Given the description of an element on the screen output the (x, y) to click on. 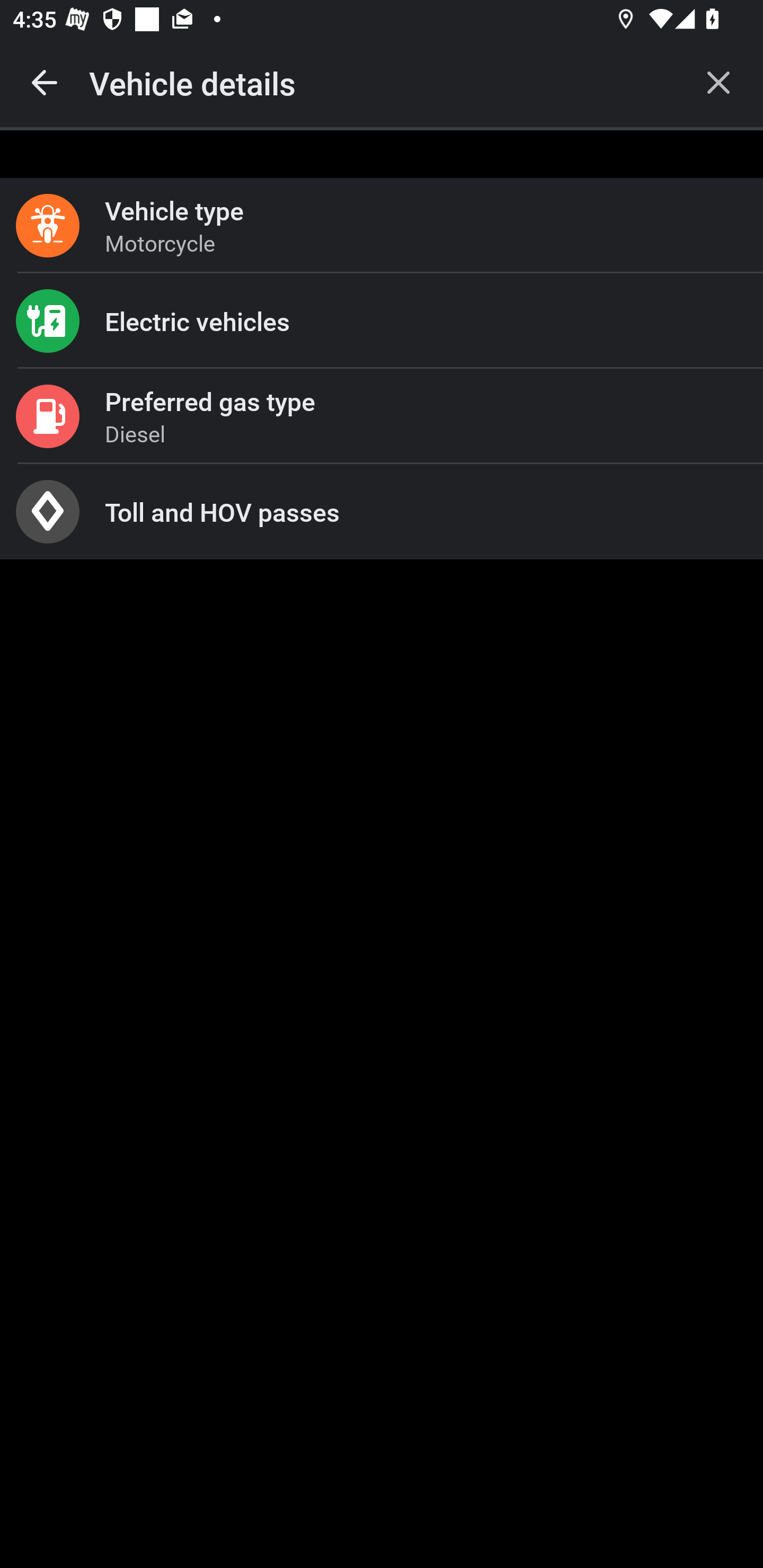
Vehicle type Motorcycle (381, 225)
Electric vehicles (381, 320)
Preferred gas type Diesel (381, 416)
Toll and HOV passes (381, 511)
